Given the description of an element on the screen output the (x, y) to click on. 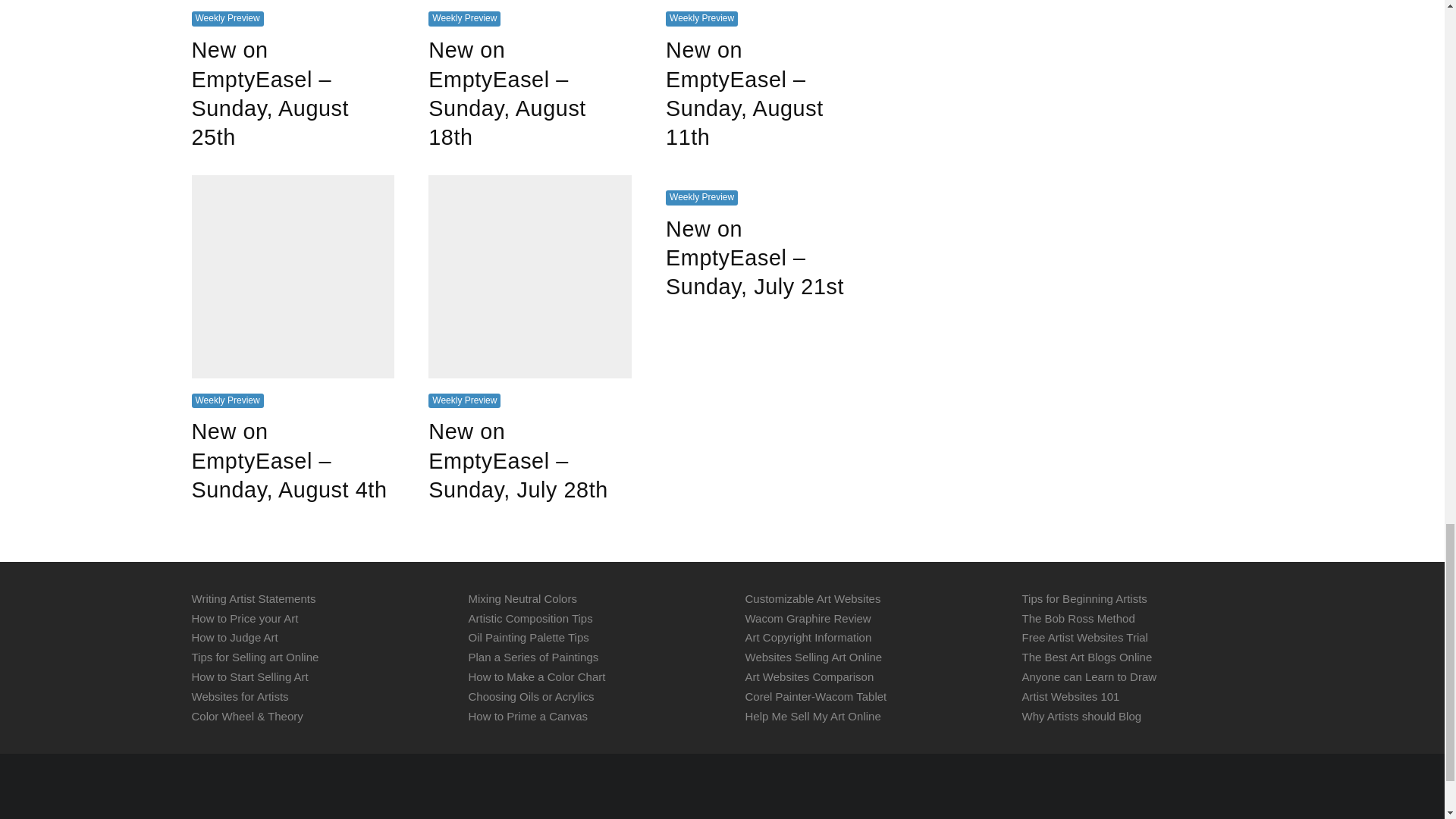
How to start selling your art (248, 676)
Article on how to mix neutral colors like brown and black (522, 598)
How to write a good artists statement and resume (252, 598)
How to create a simple color chart (536, 676)
A guide to choosing between oil paint and acrylic paint (531, 696)
These artist websites allow tons of customization (812, 598)
A review of the Wacom Graphire Pen and Tablet (807, 617)
Artist websites that actually help you sell art online (239, 696)
How to judge art: Five qualities you can critique (234, 636)
Nine steps to creating better compositions (530, 617)
